Given the description of an element on the screen output the (x, y) to click on. 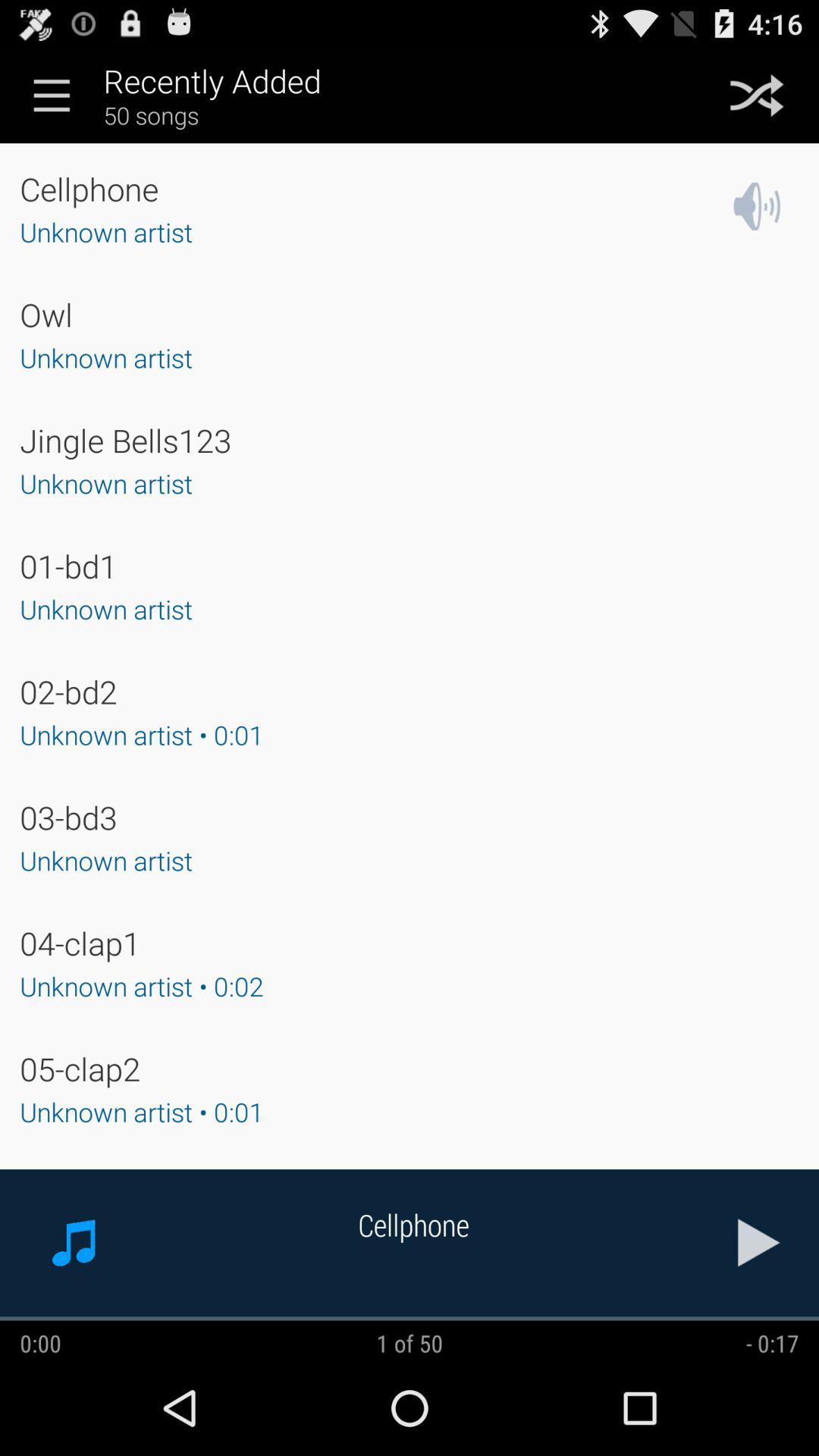
turn on app above the unknown artist app (68, 565)
